Given the description of an element on the screen output the (x, y) to click on. 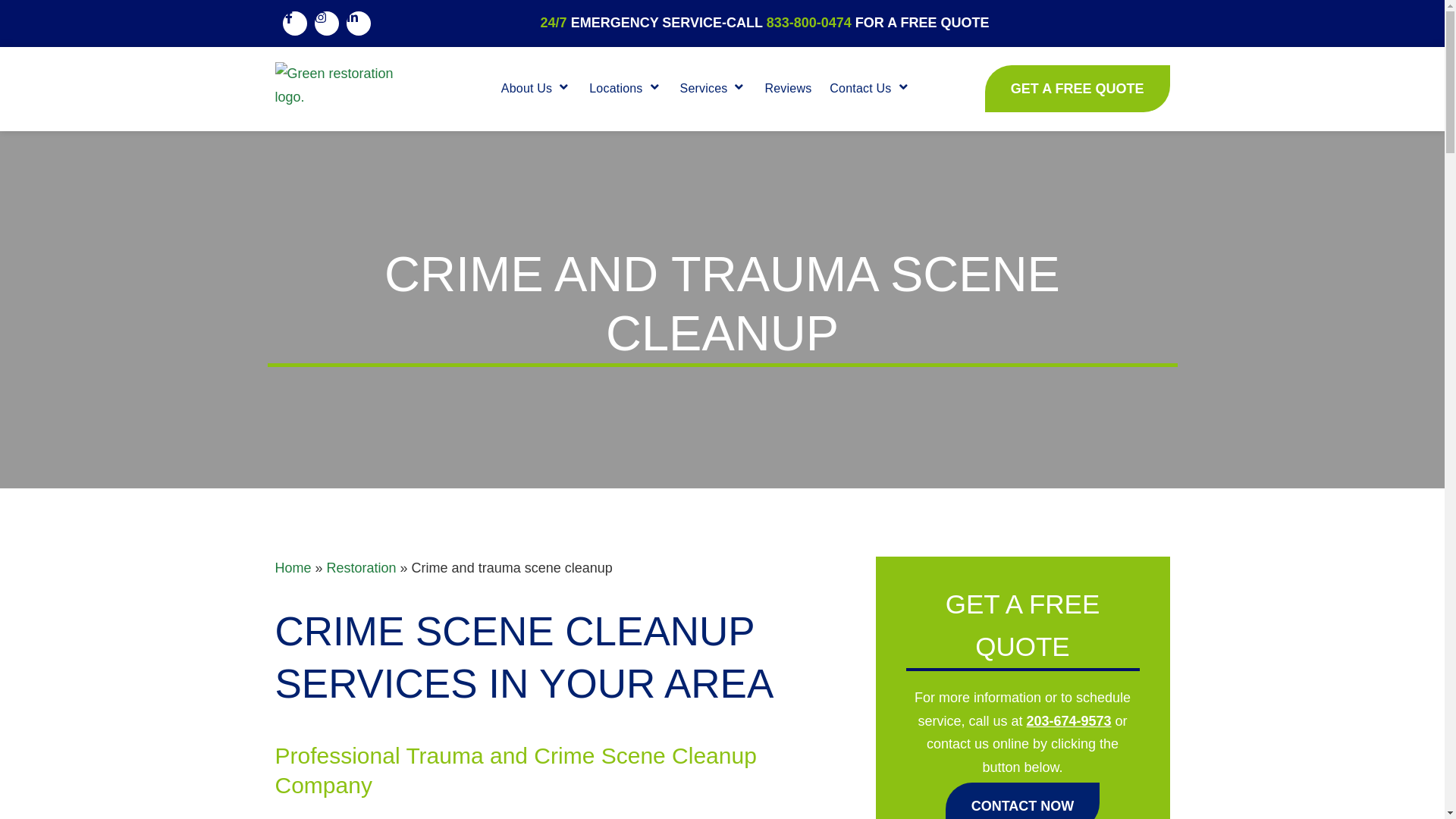
About Us (525, 87)
Services (703, 87)
Locations (615, 87)
833-800-0474 (809, 22)
